Given the description of an element on the screen output the (x, y) to click on. 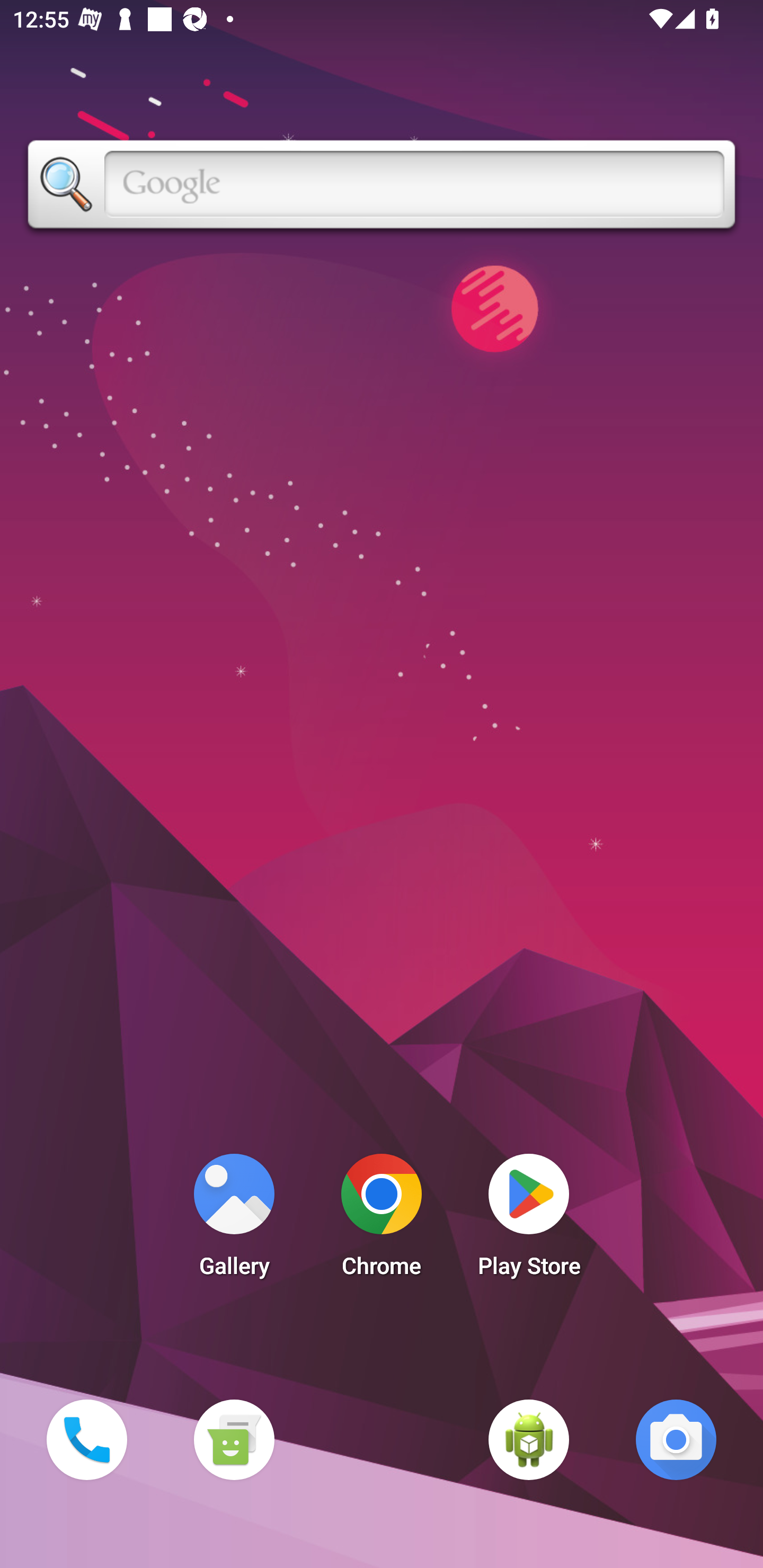
Gallery (233, 1220)
Chrome (381, 1220)
Play Store (528, 1220)
Phone (86, 1439)
Messaging (233, 1439)
WebView Browser Tester (528, 1439)
Camera (676, 1439)
